Given the description of an element on the screen output the (x, y) to click on. 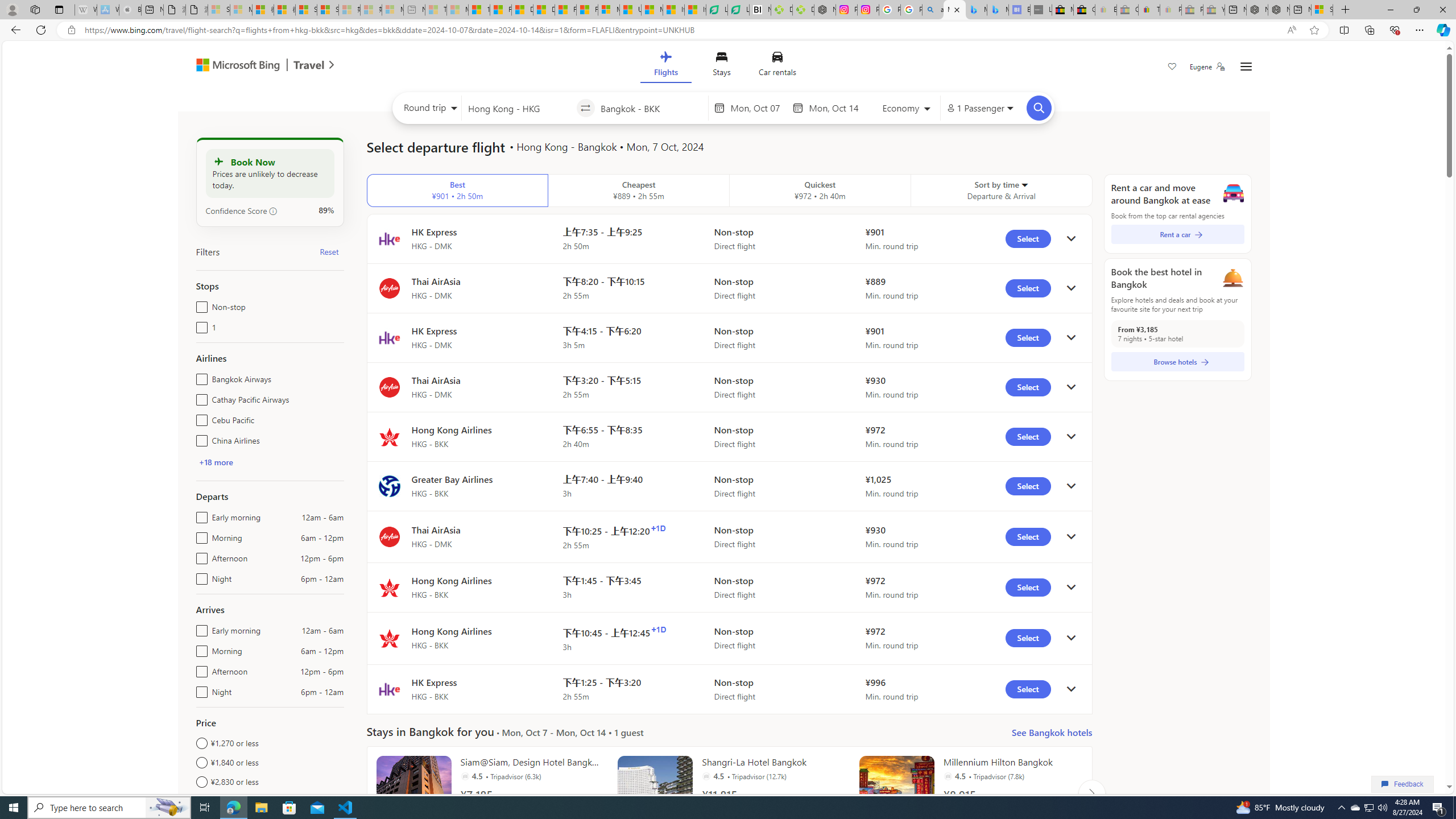
Any price (269, 801)
Microsoft Services Agreement - Sleeping (241, 9)
Nvidia va a poner a prueba la paciencia de los inversores (760, 9)
Stays (720, 65)
Buy iPad - Apple - Sleeping (130, 9)
